Given the description of an element on the screen output the (x, y) to click on. 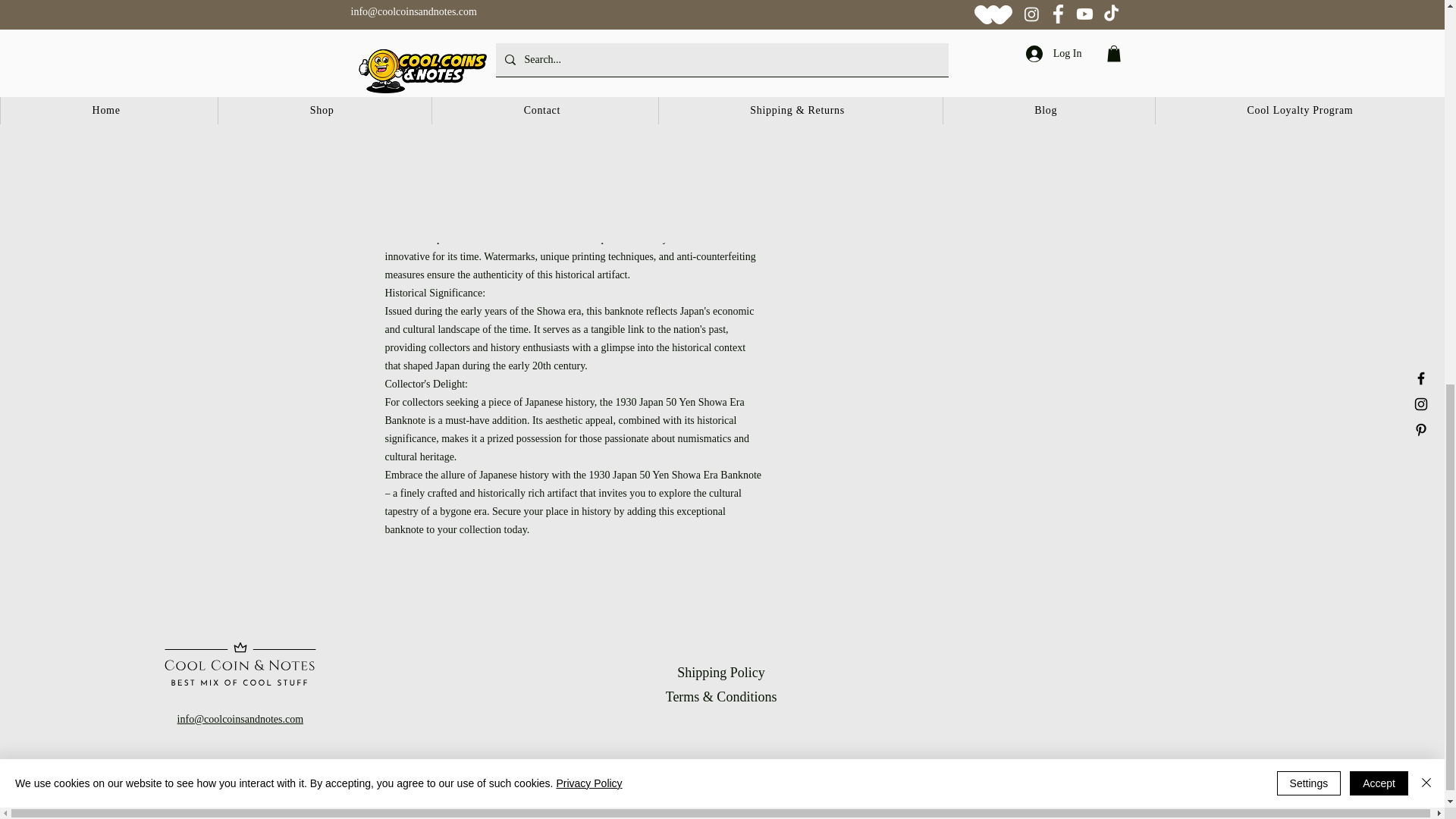
GoZoek.com (829, 776)
Privacy Policy (588, 39)
Shipping Policy (721, 672)
Accept (1378, 39)
